Given the description of an element on the screen output the (x, y) to click on. 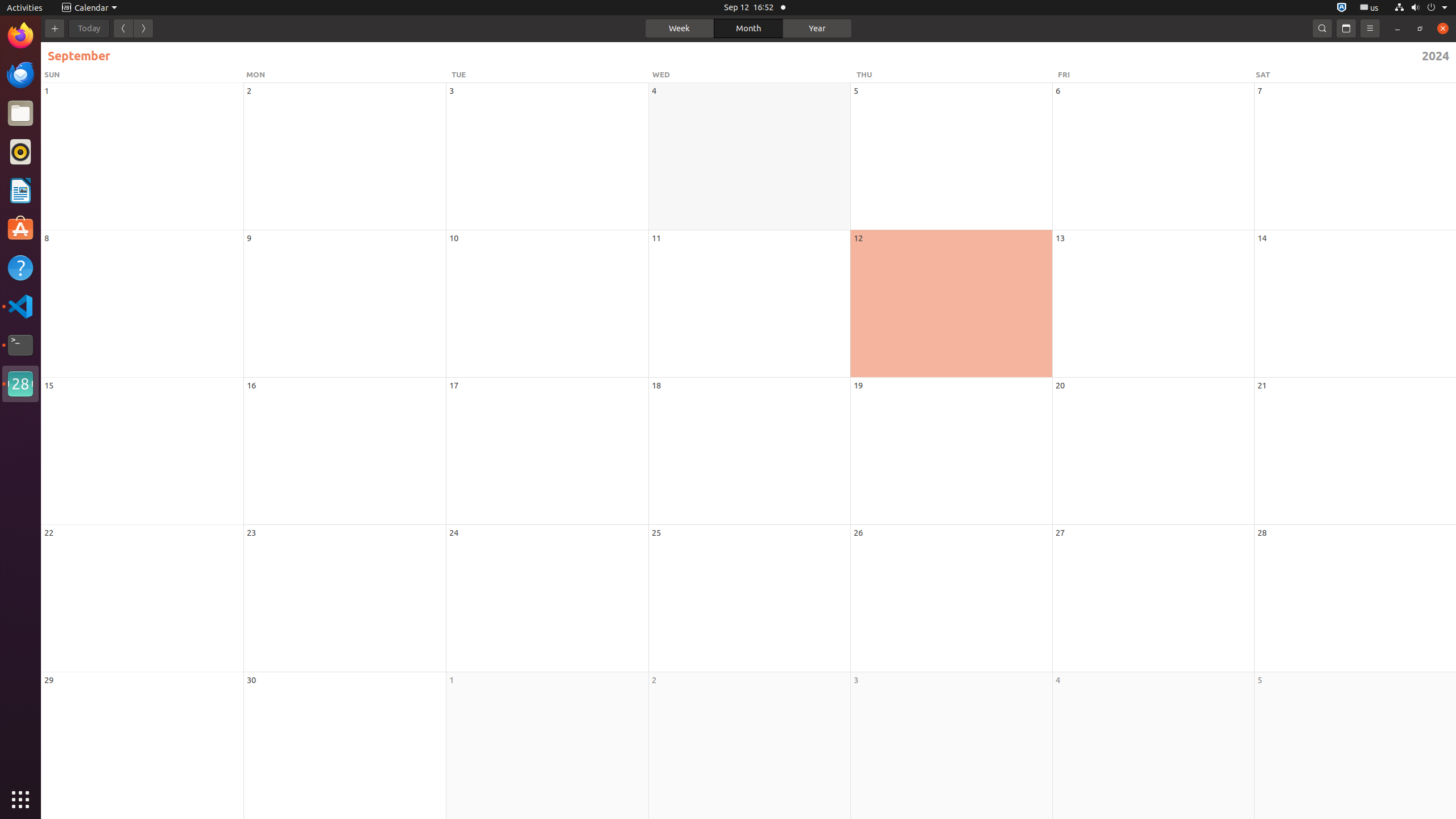
19 Element type: label (857, 385)
Calendar Element type: menu (89, 7)
THU Element type: label (955, 74)
20 Element type: label (1059, 385)
